Given the description of an element on the screen output the (x, y) to click on. 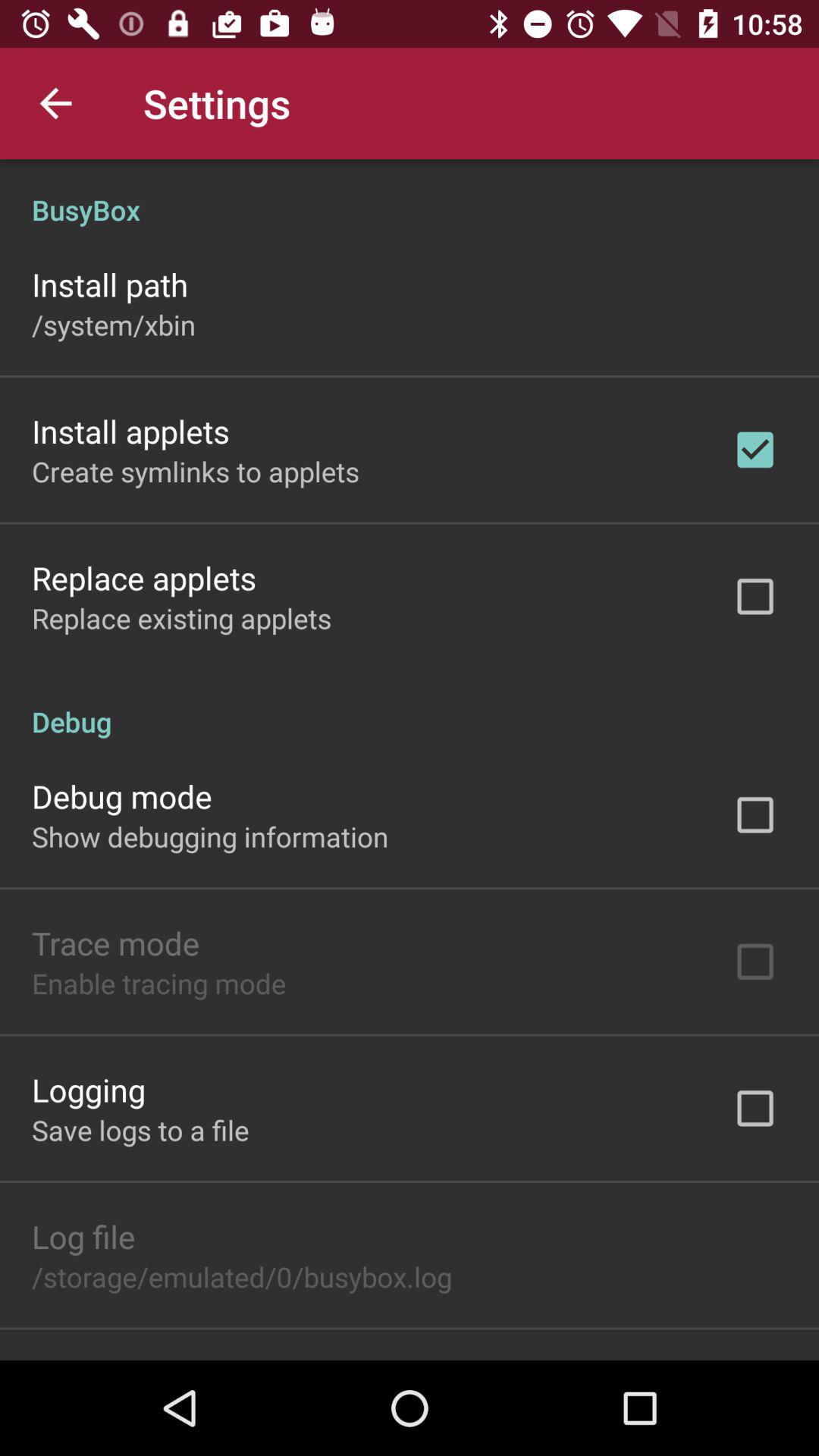
jump until the logging (88, 1089)
